Given the description of an element on the screen output the (x, y) to click on. 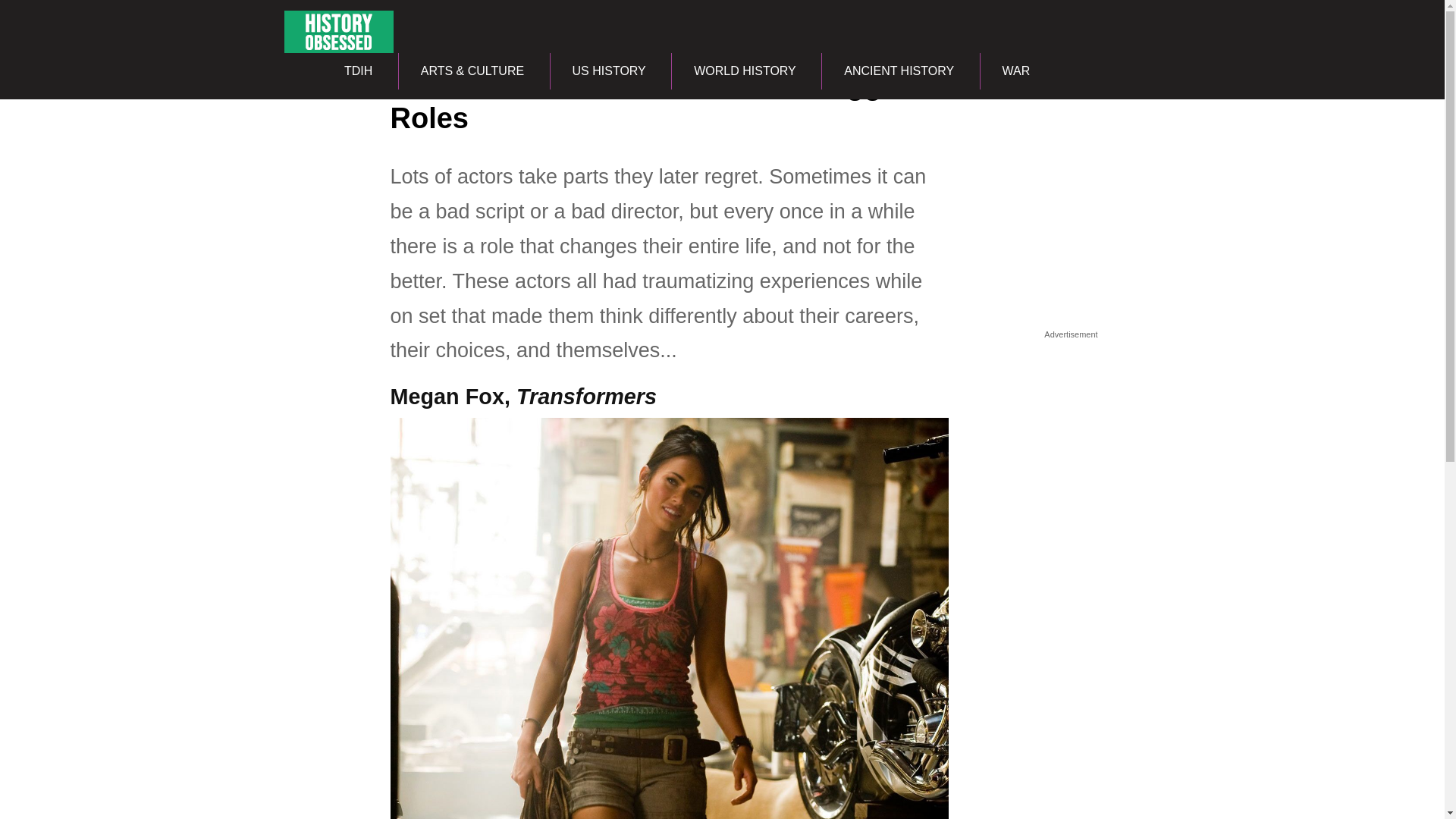
WAR (1015, 71)
TDIH (357, 71)
ANCIENT HISTORY (898, 71)
WORLD HISTORY (744, 71)
US HISTORY (609, 71)
